Given the description of an element on the screen output the (x, y) to click on. 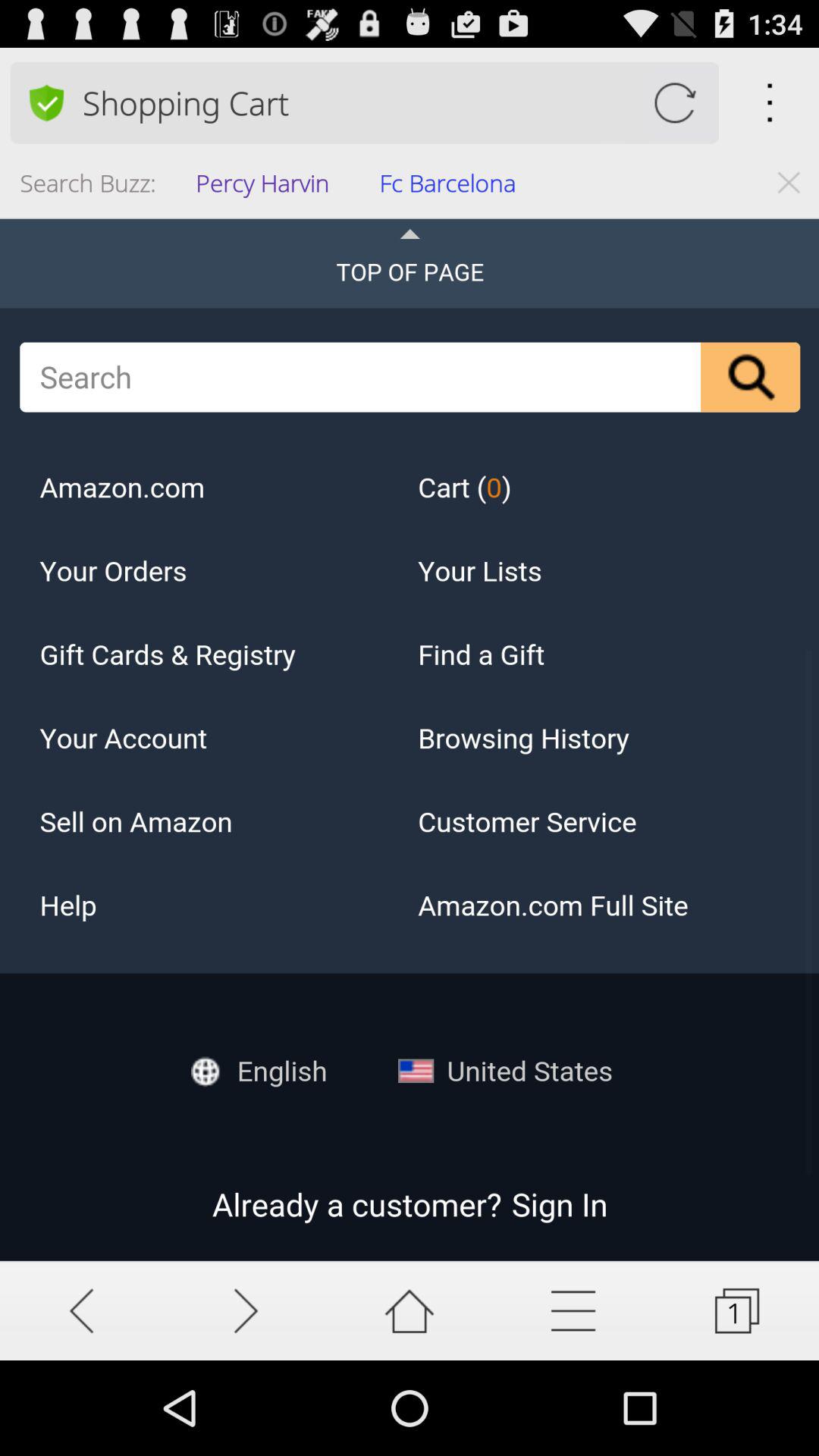
click item next to search buzz: (267, 187)
